Given the description of an element on the screen output the (x, y) to click on. 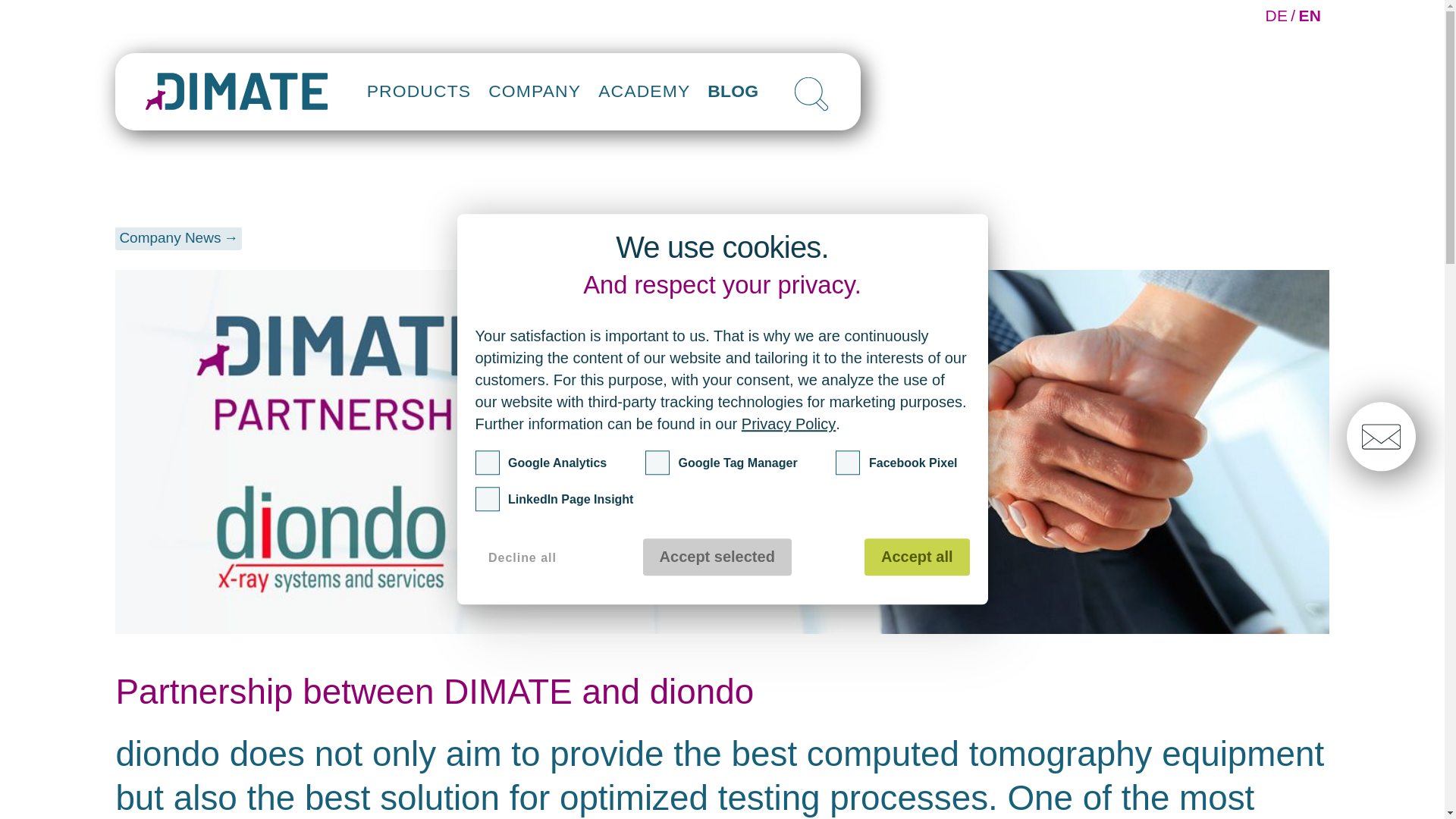
DE (1276, 15)
Products (419, 91)
FacebookPixel (847, 463)
LinkedInPageInsight (486, 499)
Company (534, 91)
BLOG (732, 96)
Company News (178, 237)
GoogleTagManager (657, 463)
COMPANY (534, 51)
ACADEMY (643, 92)
GoogleAnalytics (486, 463)
